Given the description of an element on the screen output the (x, y) to click on. 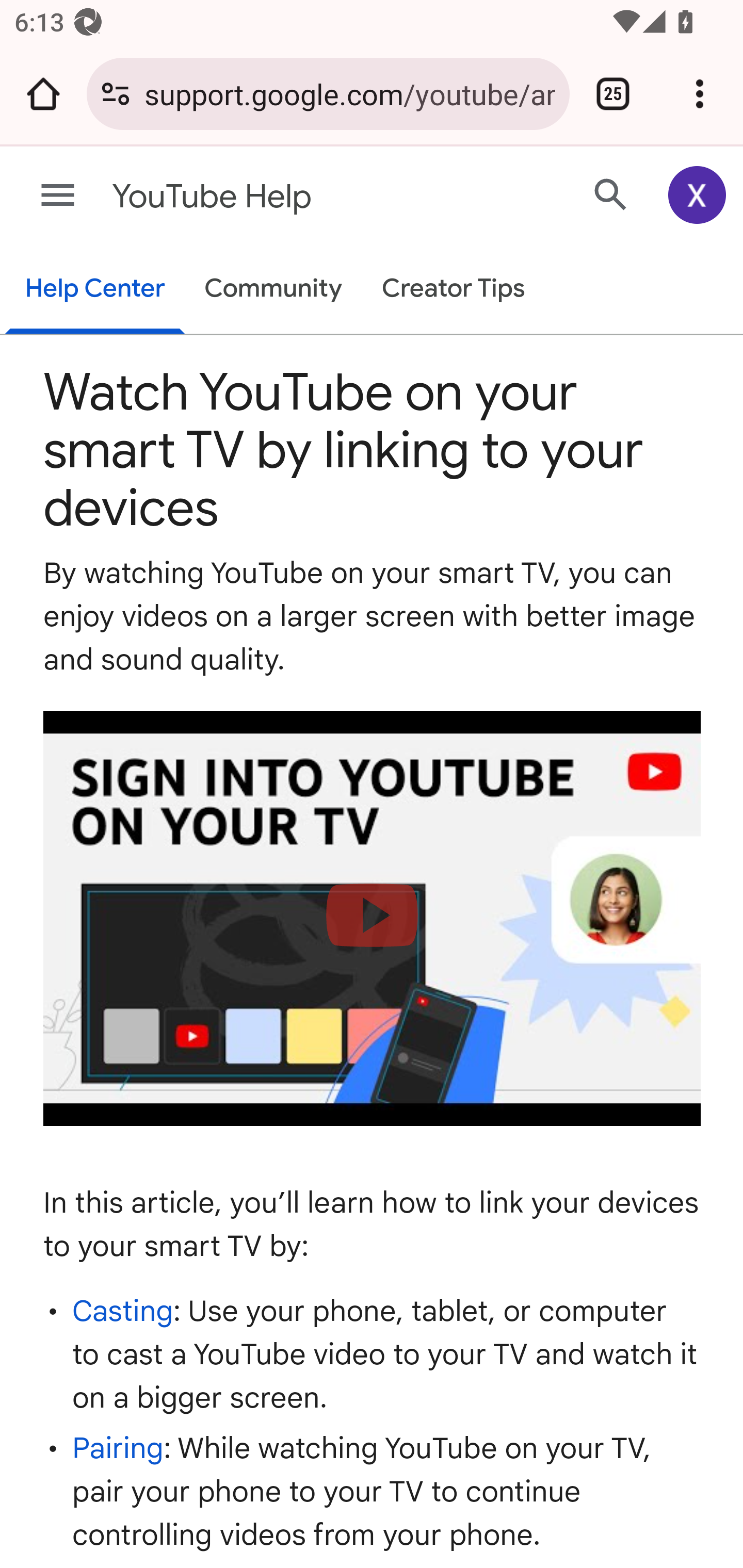
Open the home page (43, 93)
Connection is secure (115, 93)
Switch or close tabs (612, 93)
Customize and control Google Chrome (699, 93)
support.google.com/youtube/answer/7640706?hl=%@ (349, 92)
Main menu (58, 195)
YouTube Help (292, 197)
Search Help Center (611, 194)
Google Account: Xiaoran (zxrappiumtest@gmail.com) (697, 195)
Help Center (94, 289)
Community (273, 289)
Creator Tips (453, 289)
Load video (372, 918)
Casting (123, 1310)
Pairing (118, 1448)
